Given the description of an element on the screen output the (x, y) to click on. 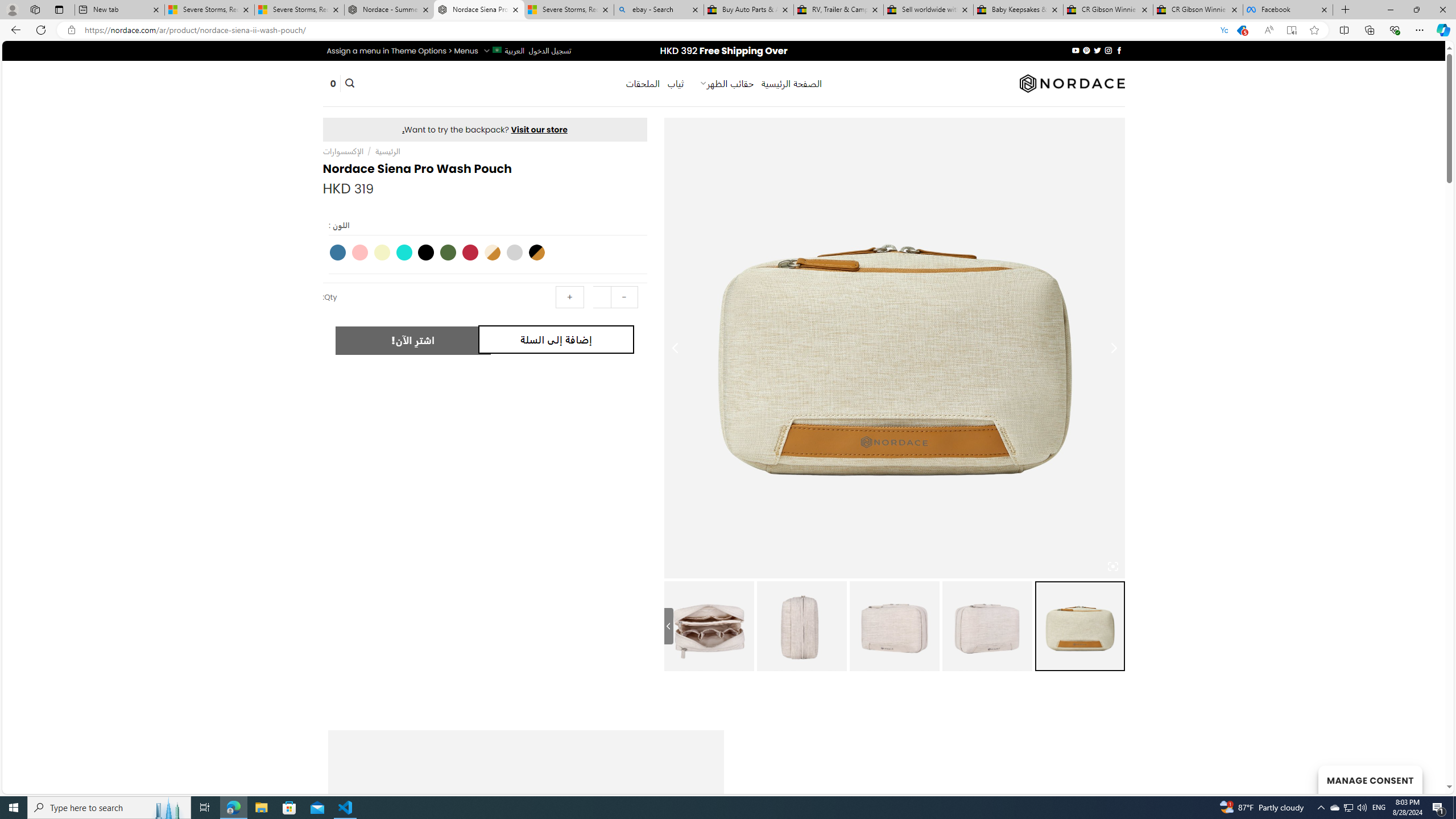
Address and search bar (653, 29)
 0 (333, 83)
Follow on Facebook (1118, 50)
+ (569, 296)
Nordace Siena Pro Wash Pouch (708, 625)
Buy Auto Parts & Accessories | eBay (747, 9)
